Given the description of an element on the screen output the (x, y) to click on. 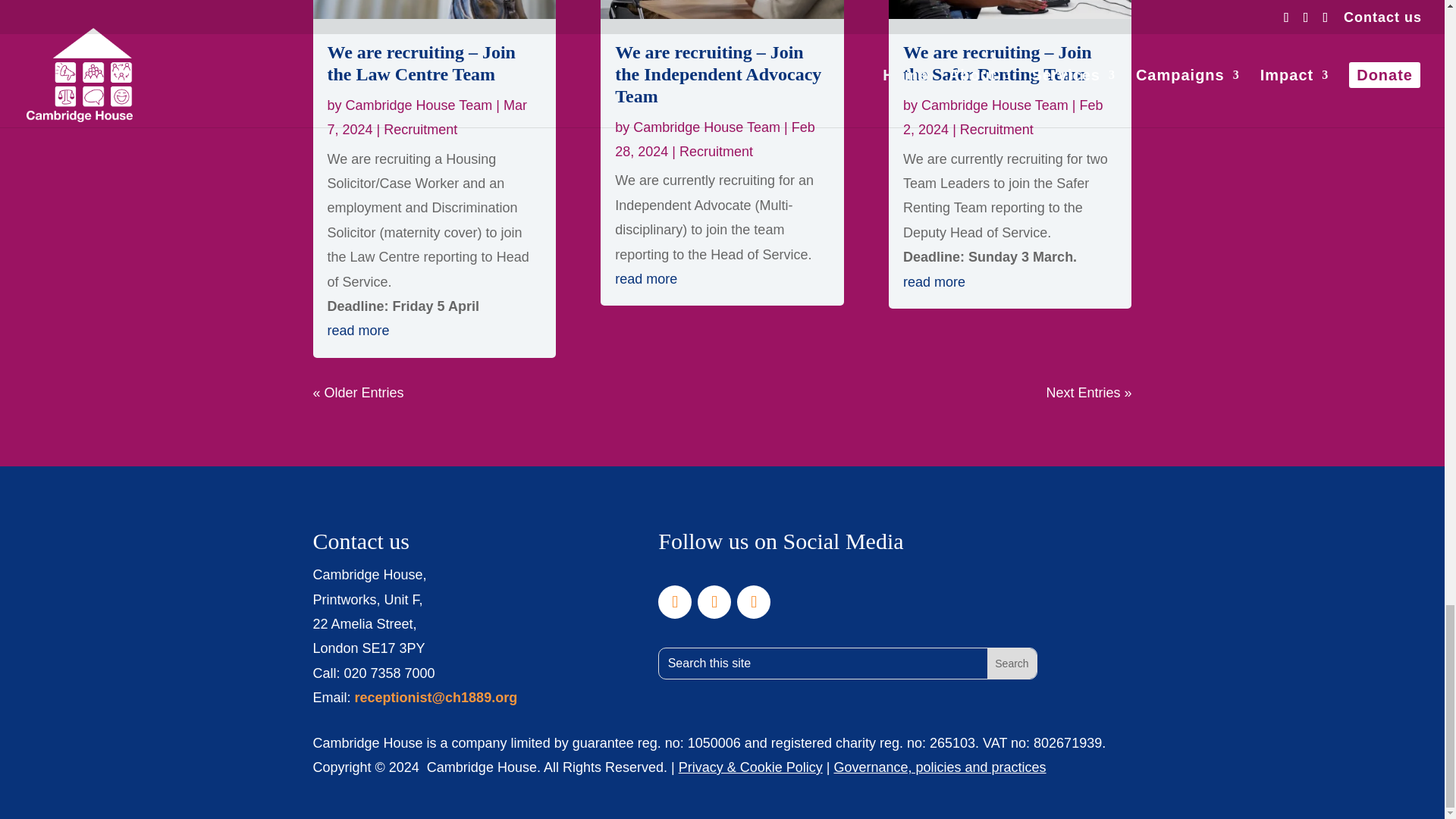
Posts by Cambridge House Team (419, 105)
Posts by Cambridge House Team (994, 105)
Follow on X (713, 602)
Follow on Instagram (753, 602)
Posts by Cambridge House Team (706, 127)
Follow on Facebook (674, 602)
Search (1011, 663)
Search (1011, 663)
